Given the description of an element on the screen output the (x, y) to click on. 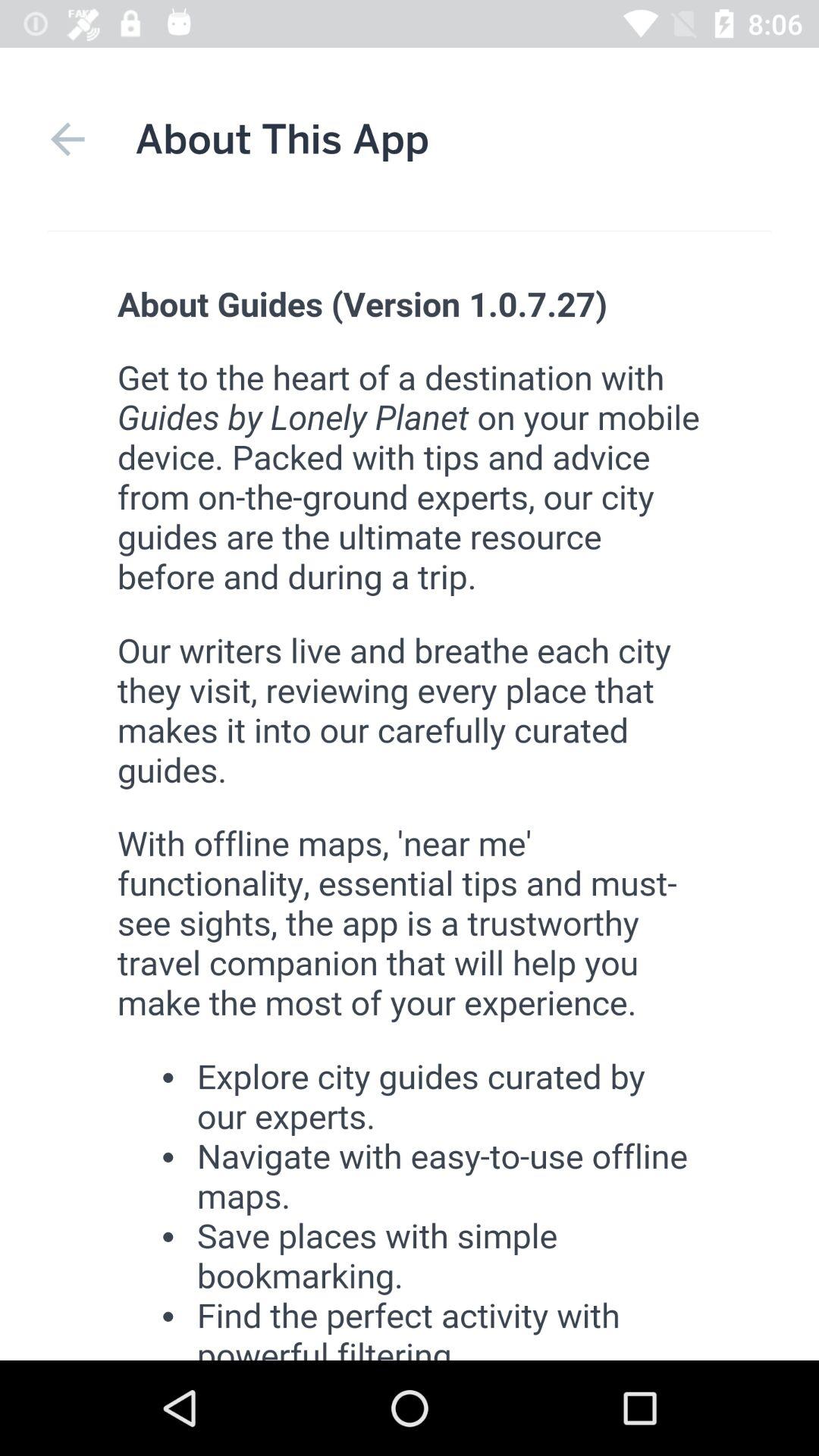
go to previous button (67, 139)
